Given the description of an element on the screen output the (x, y) to click on. 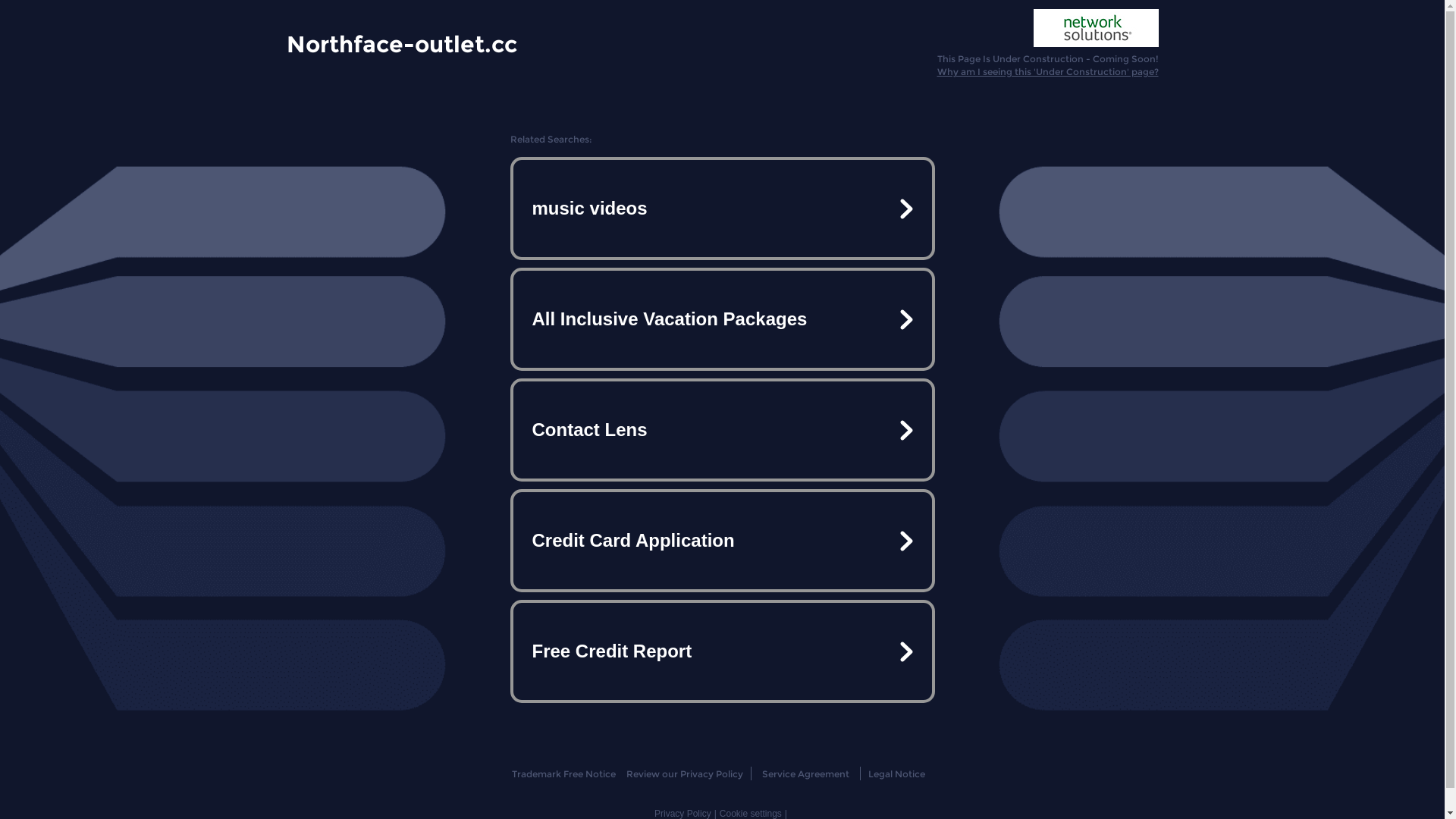
Northface-outlet.cc Element type: text (401, 43)
Credit Card Application Element type: text (721, 540)
Legal Notice Element type: text (896, 773)
Contact Lens Element type: text (721, 429)
All Inclusive Vacation Packages Element type: text (721, 318)
Service Agreement Element type: text (805, 773)
Free Credit Report Element type: text (721, 650)
Review our Privacy Policy Element type: text (684, 773)
Trademark Free Notice Element type: text (563, 773)
music videos Element type: text (721, 208)
Why am I seeing this 'Under Construction' page? Element type: text (1047, 71)
